Given the description of an element on the screen output the (x, y) to click on. 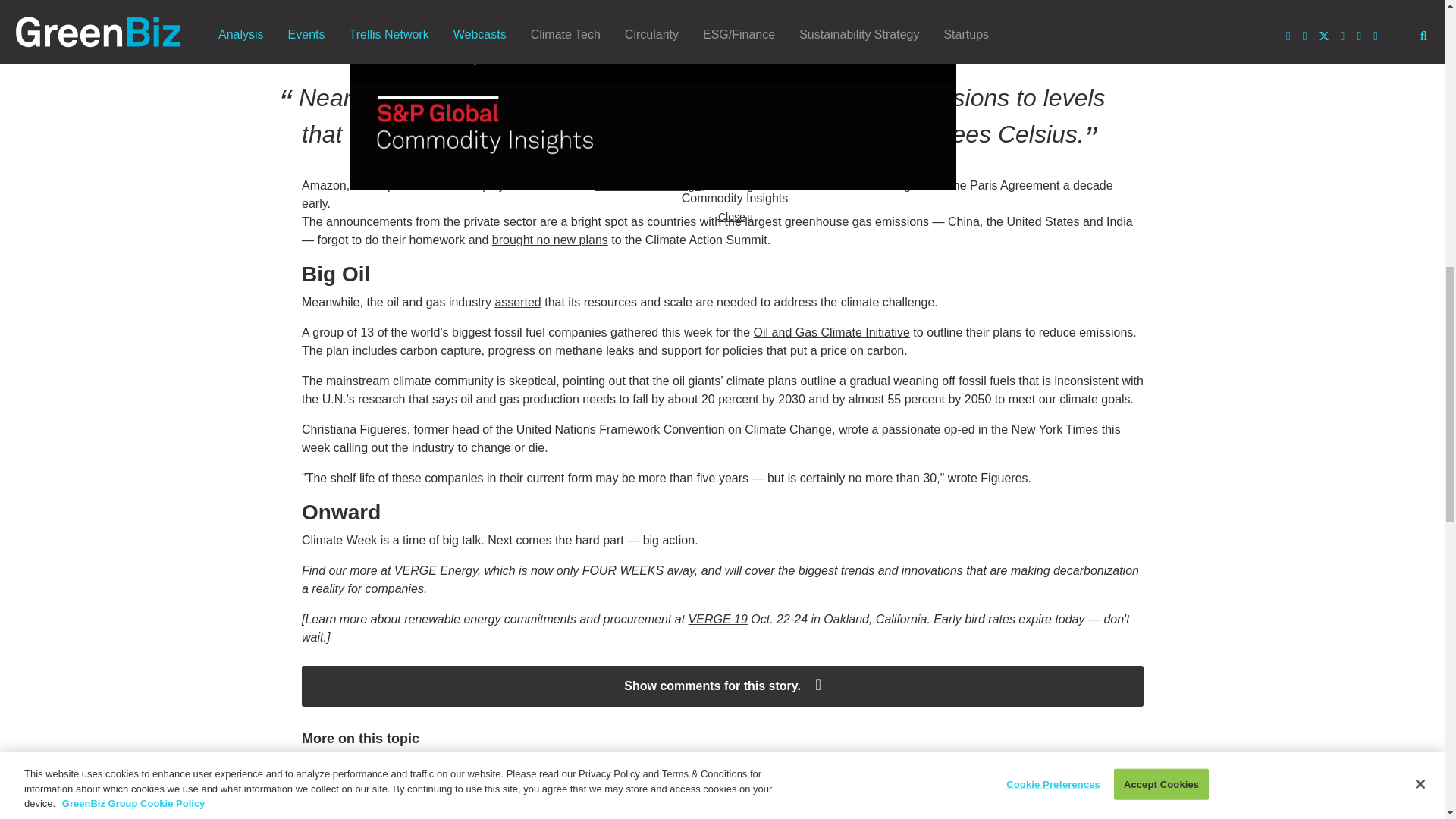
3rd party ad content (439, 683)
3rd party ad content (439, 320)
